Given the description of an element on the screen output the (x, y) to click on. 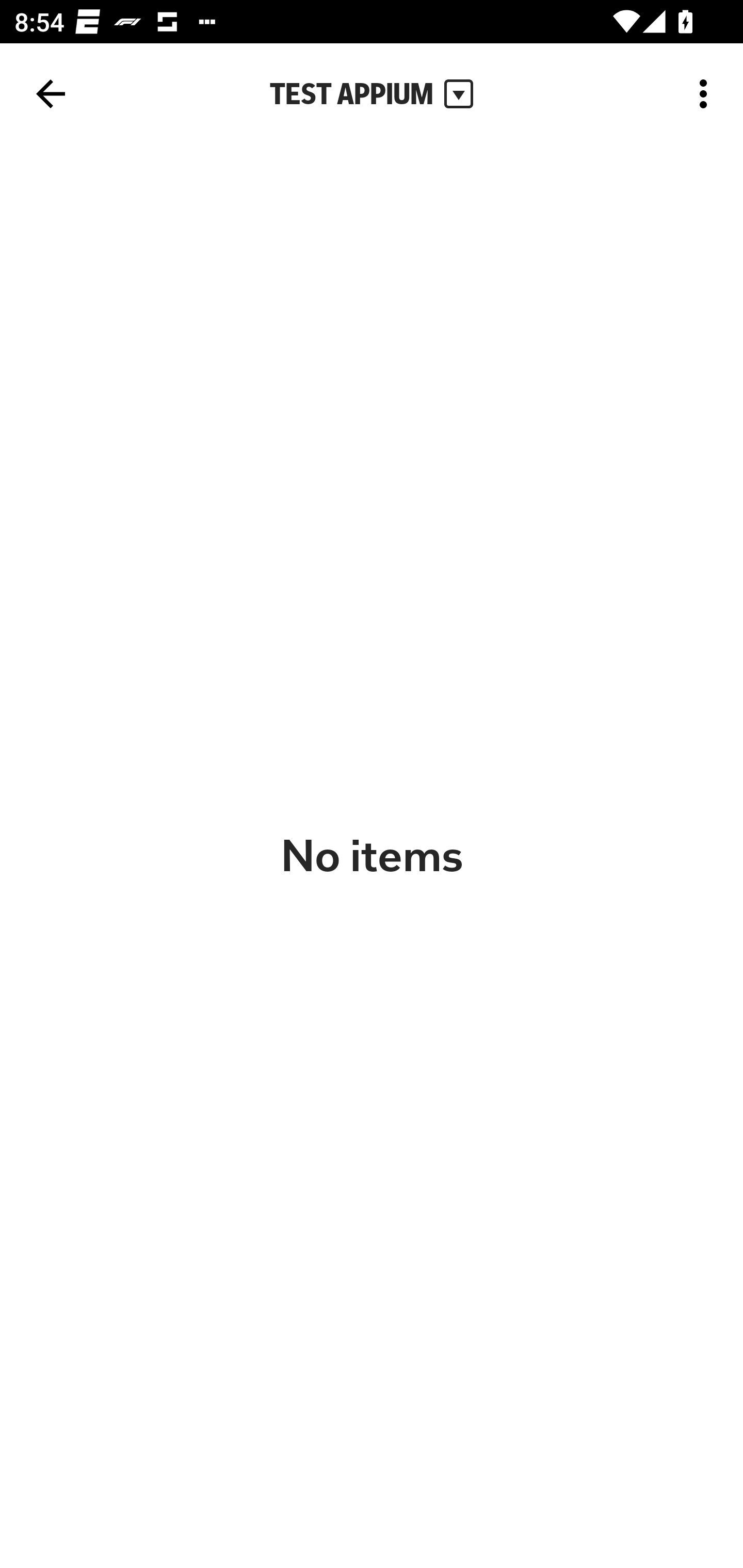
Back (50, 93)
TEST APPIUM (371, 93)
More options (706, 93)
